Given the description of an element on the screen output the (x, y) to click on. 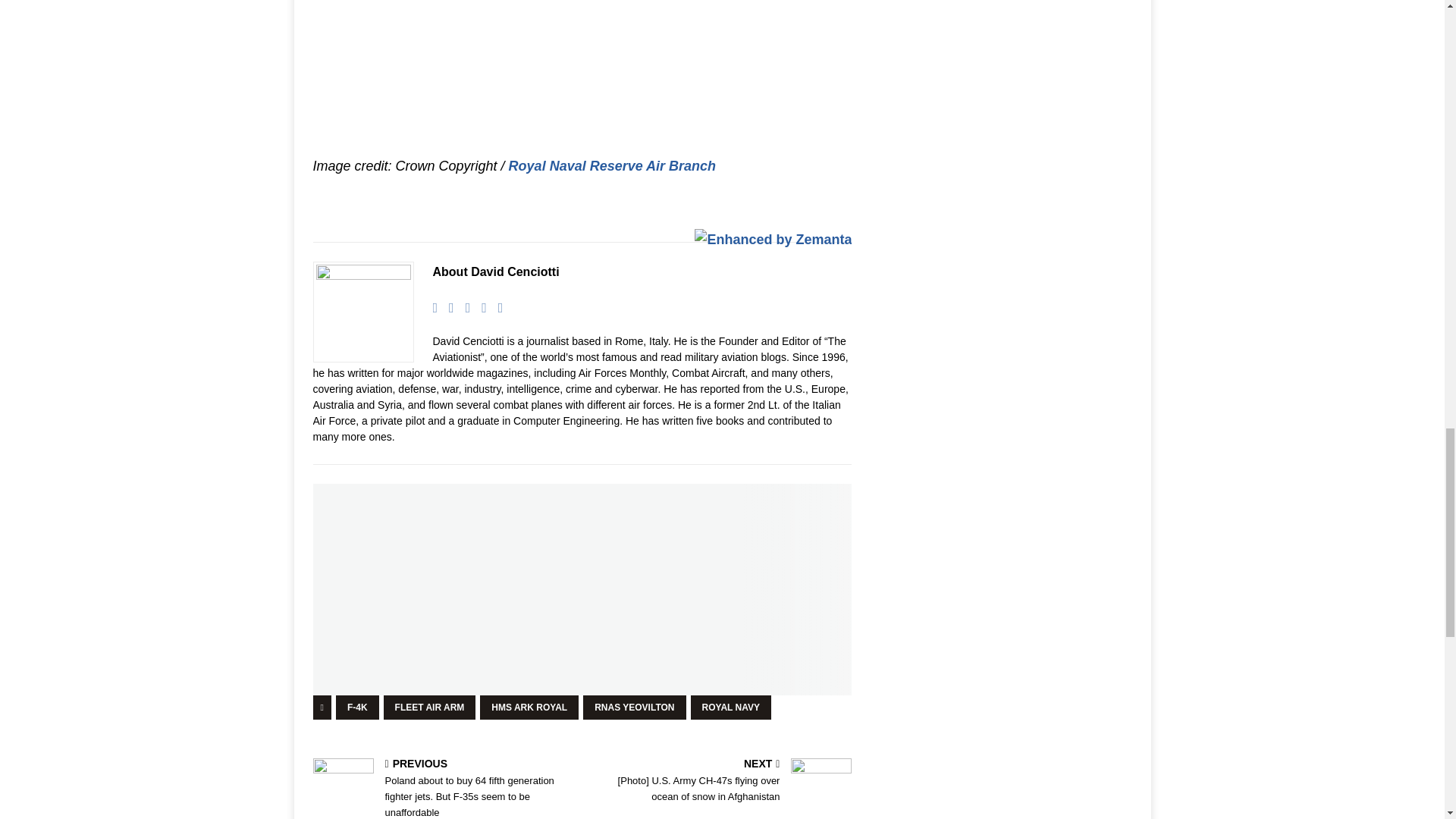
Follow David Cenciotti on Facebook (446, 307)
Follow David Cenciotti on Twitter (462, 307)
Follow David Cenciotti on instagram (494, 307)
Royal Naval Reserve Air Branch (612, 165)
Follow David Cenciotti on LinkedIn (478, 307)
